Given the description of an element on the screen output the (x, y) to click on. 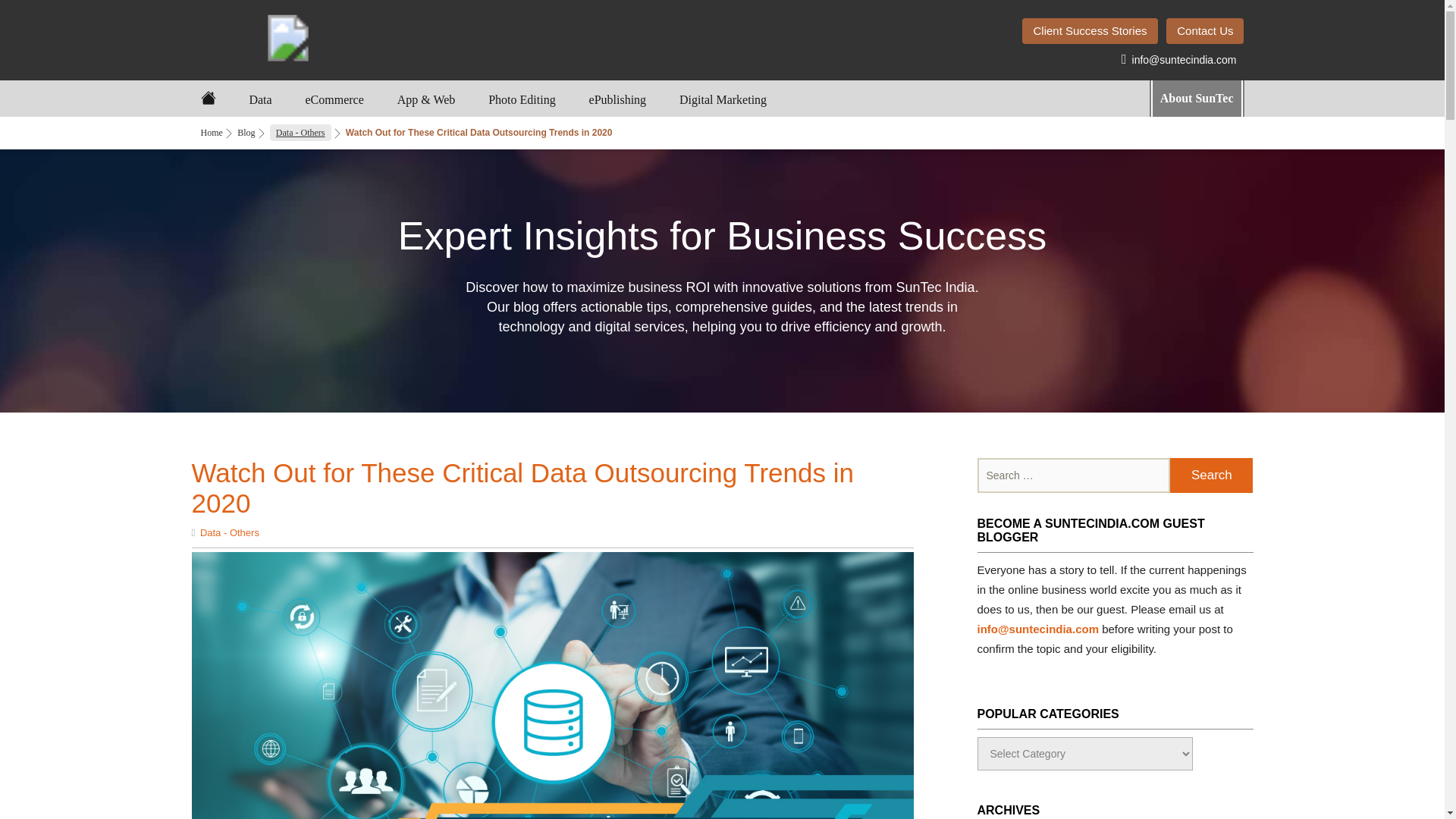
SunTec India (287, 26)
Search (1211, 475)
Data (259, 101)
Client Success Stories (1089, 31)
Search (1211, 475)
Contact Us (1204, 31)
